Given the description of an element on the screen output the (x, y) to click on. 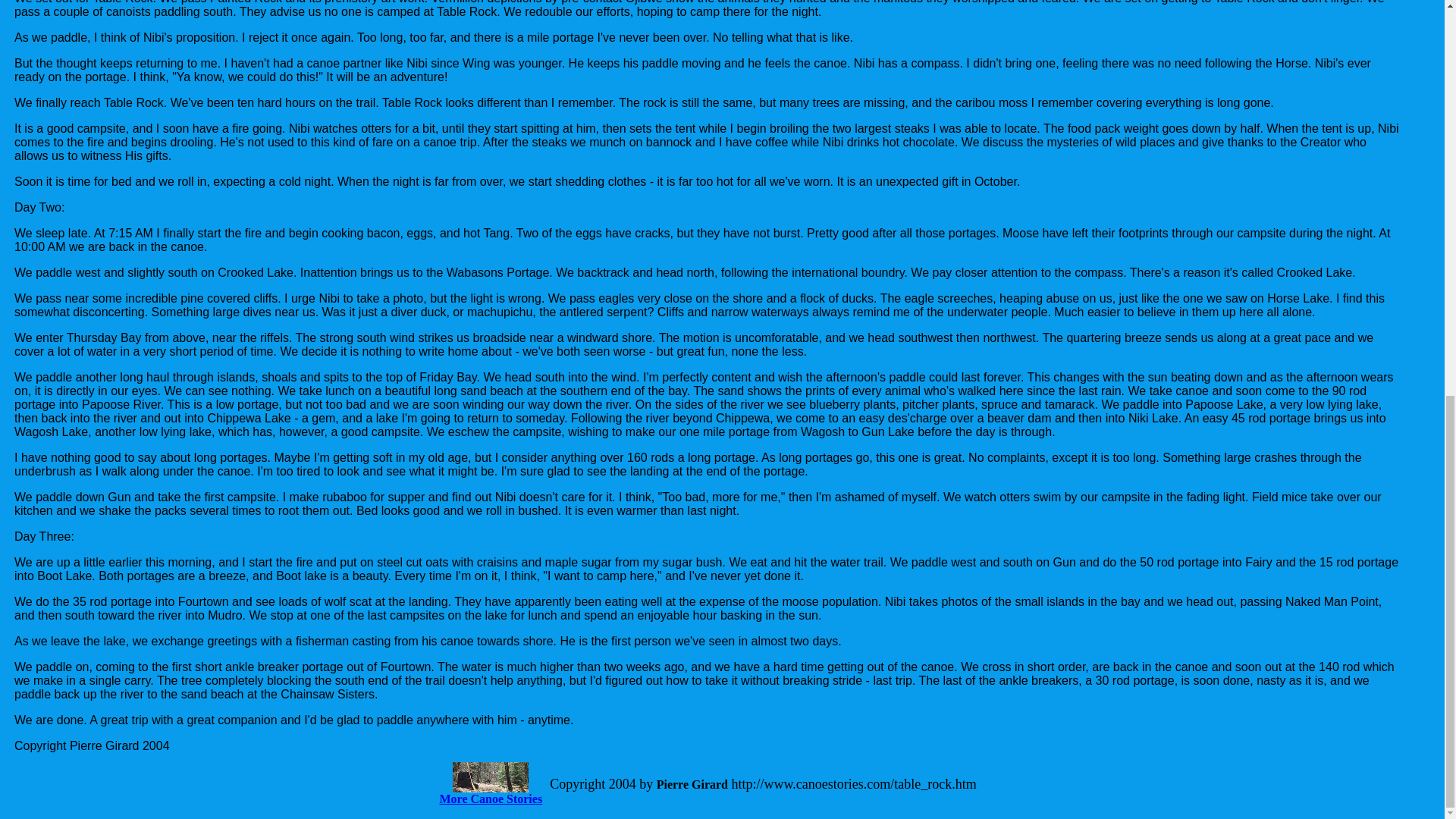
More Canoe Stories (490, 798)
Pierre Girard (692, 784)
